Given the description of an element on the screen output the (x, y) to click on. 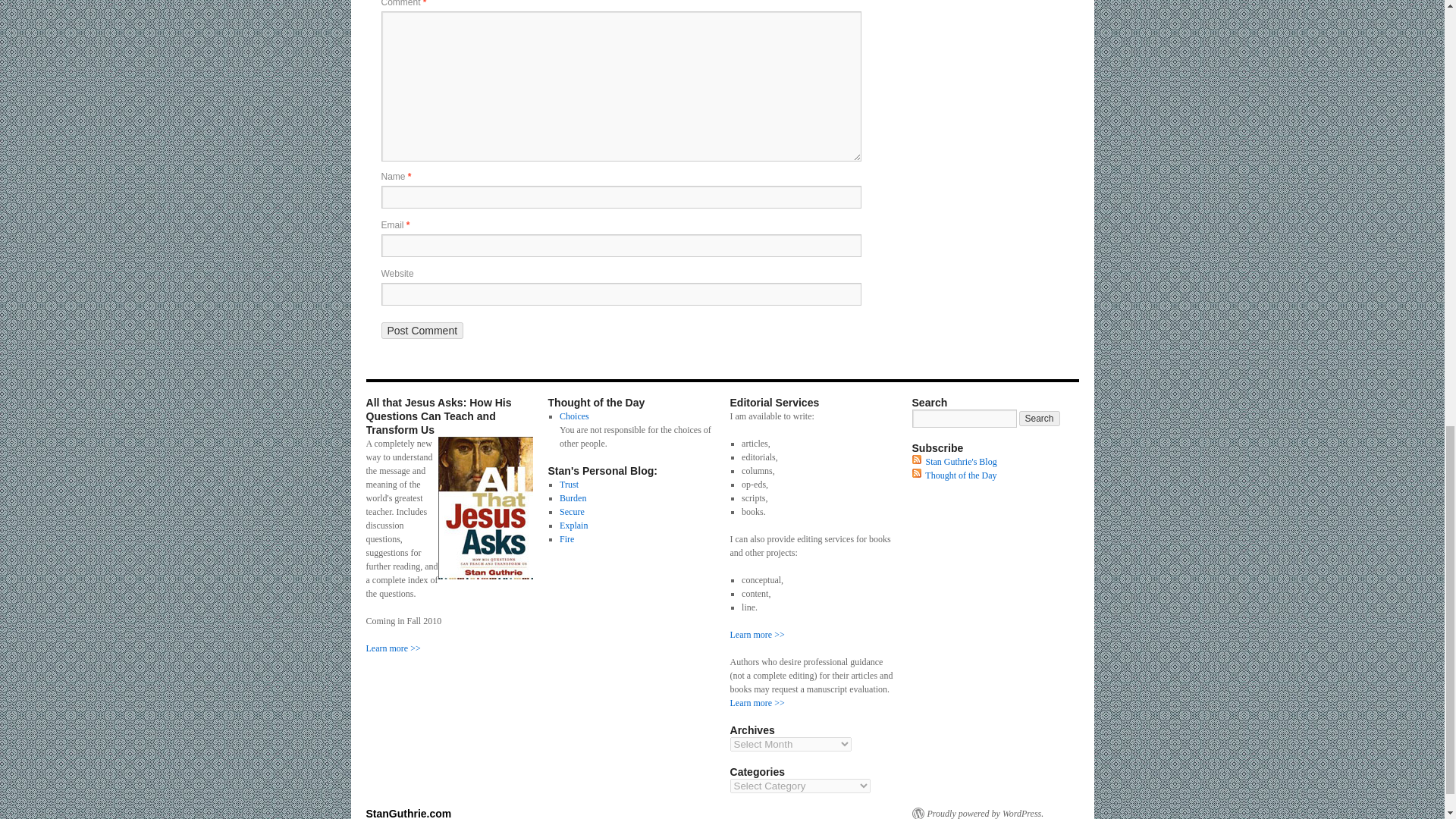
Post Comment (421, 330)
Post Comment (421, 330)
Search (1039, 418)
Permanent link to Choices (574, 416)
